Given the description of an element on the screen output the (x, y) to click on. 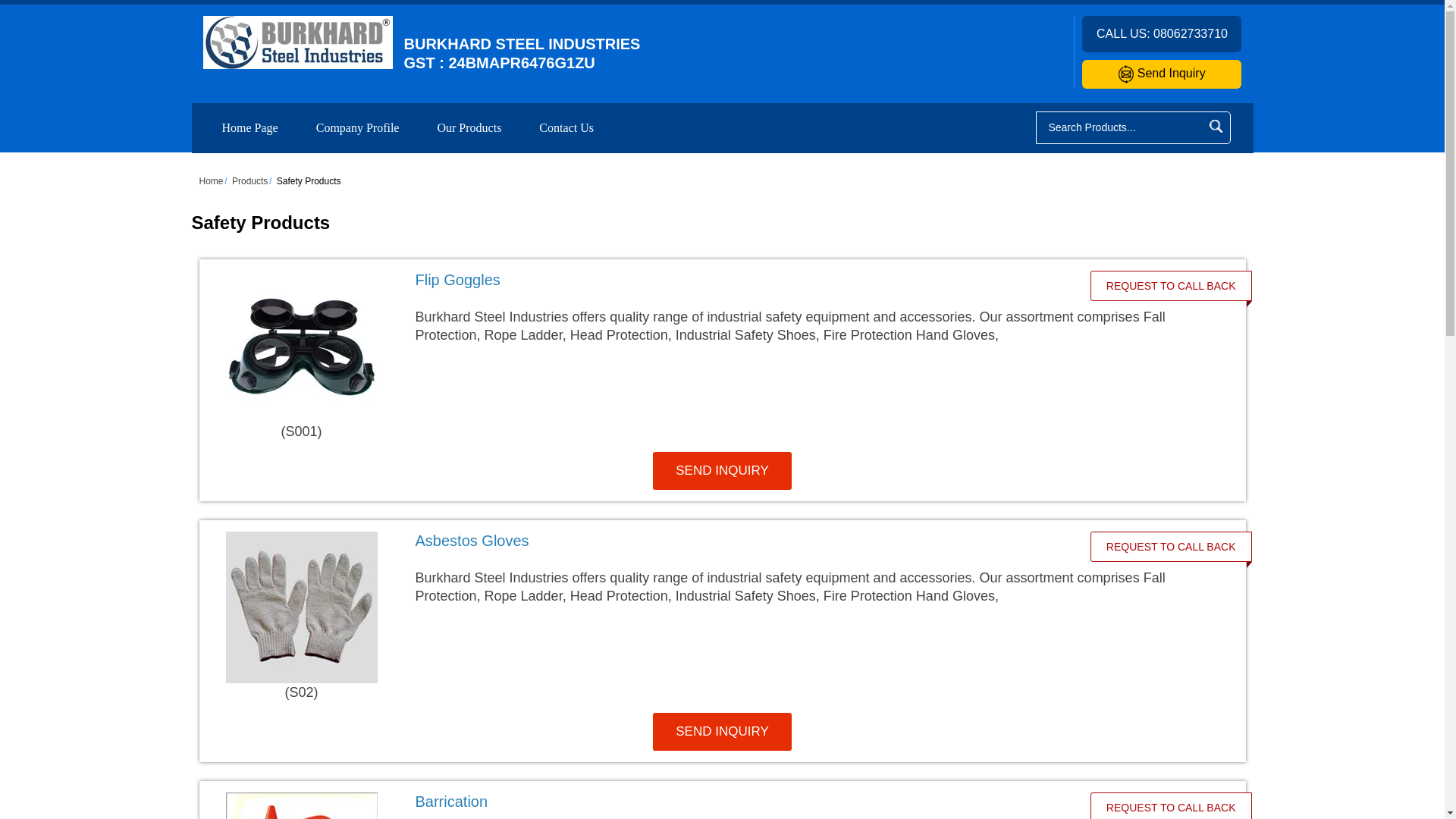
REQUEST TO CALL BACK (1170, 806)
Products (249, 181)
Home Page (250, 128)
Company Profile (358, 128)
submit (1215, 126)
Flip Goggles (457, 279)
Our Products (468, 128)
Home (210, 181)
Search (1215, 126)
Barrication (450, 801)
Search Products... (1120, 127)
REQUEST TO CALL BACK (1170, 546)
Flip Goggles (742, 280)
REQUEST TO CALL BACK (1170, 285)
SEND INQUIRY (722, 470)
